Given the description of an element on the screen output the (x, y) to click on. 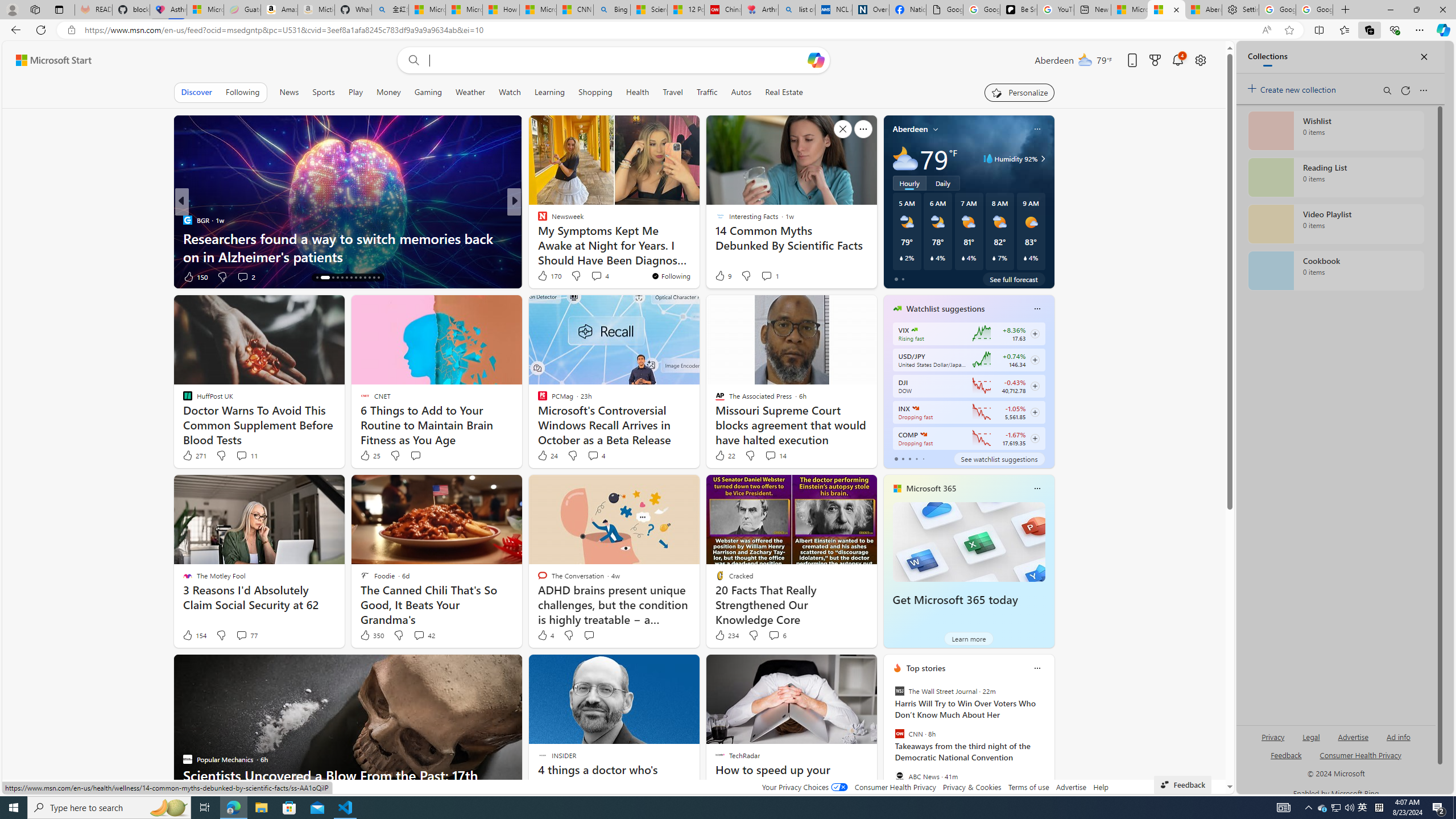
Mostly cloudy (904, 158)
Aberdeen (910, 128)
20 Ways To Embrace Aging Gracefully After Age 75 (697, 256)
View comments 18 Comment (597, 276)
113 Like (194, 276)
Digital Trends (537, 219)
170 Like (548, 275)
9 Like (722, 275)
720 Like (545, 276)
